Given the description of an element on the screen output the (x, y) to click on. 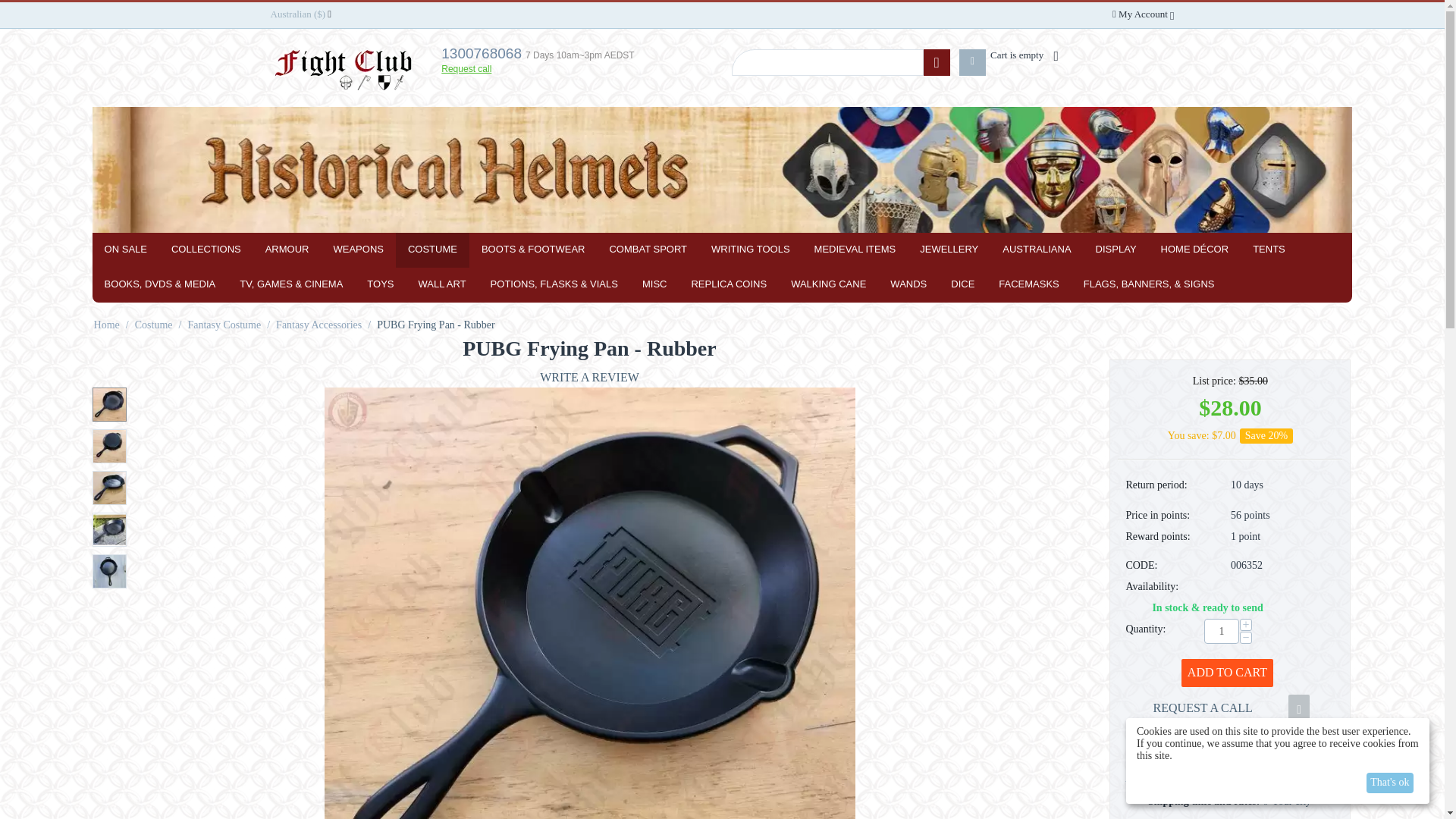
Search (936, 62)
Write a review (589, 377)
Cart is empty (1021, 54)
 My Account (1142, 13)
Search products (827, 62)
ON SALE (125, 249)
Request call (466, 68)
COLLECTIONS (205, 249)
